Given the description of an element on the screen output the (x, y) to click on. 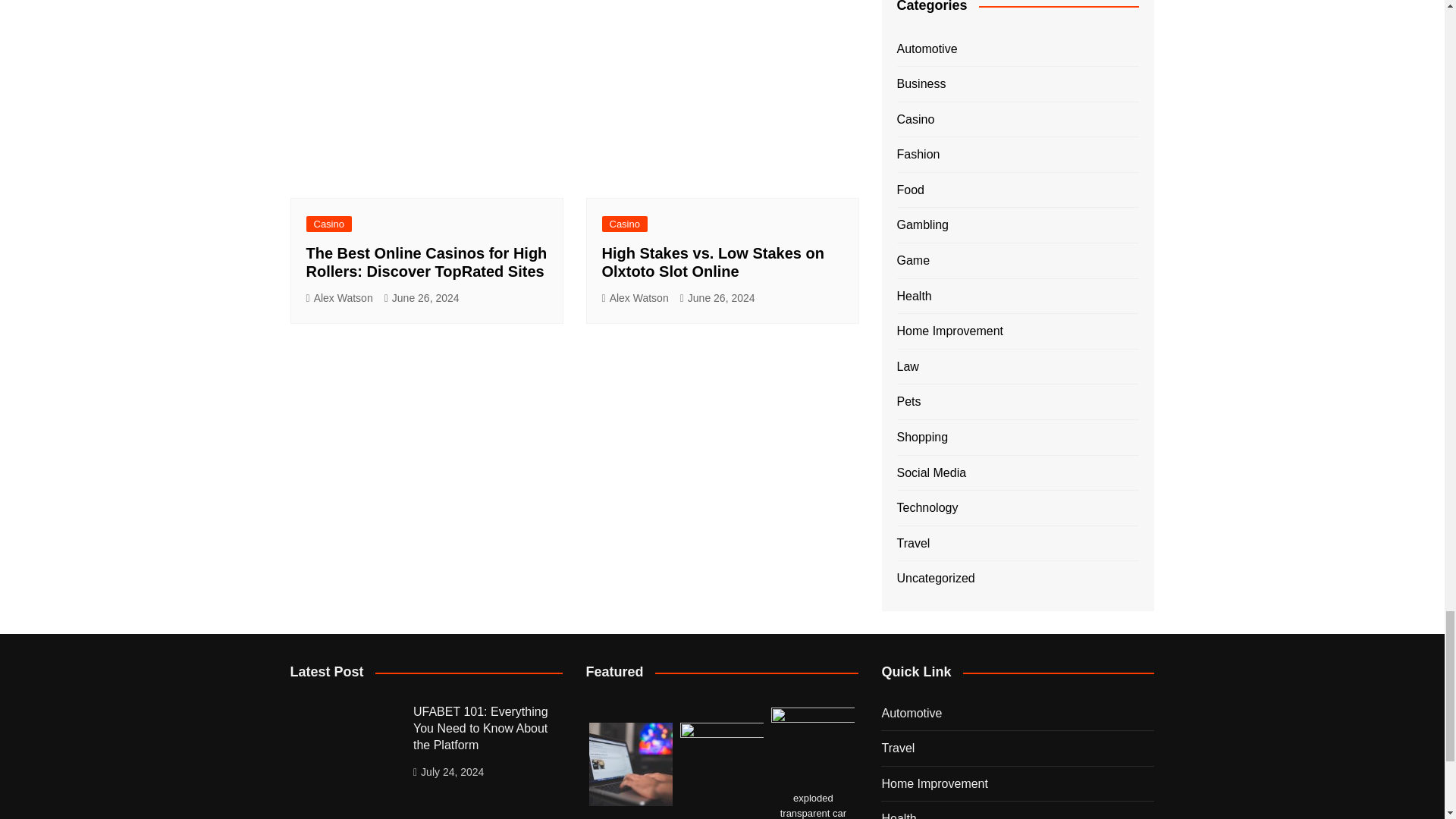
Casino (328, 223)
